Given the description of an element on the screen output the (x, y) to click on. 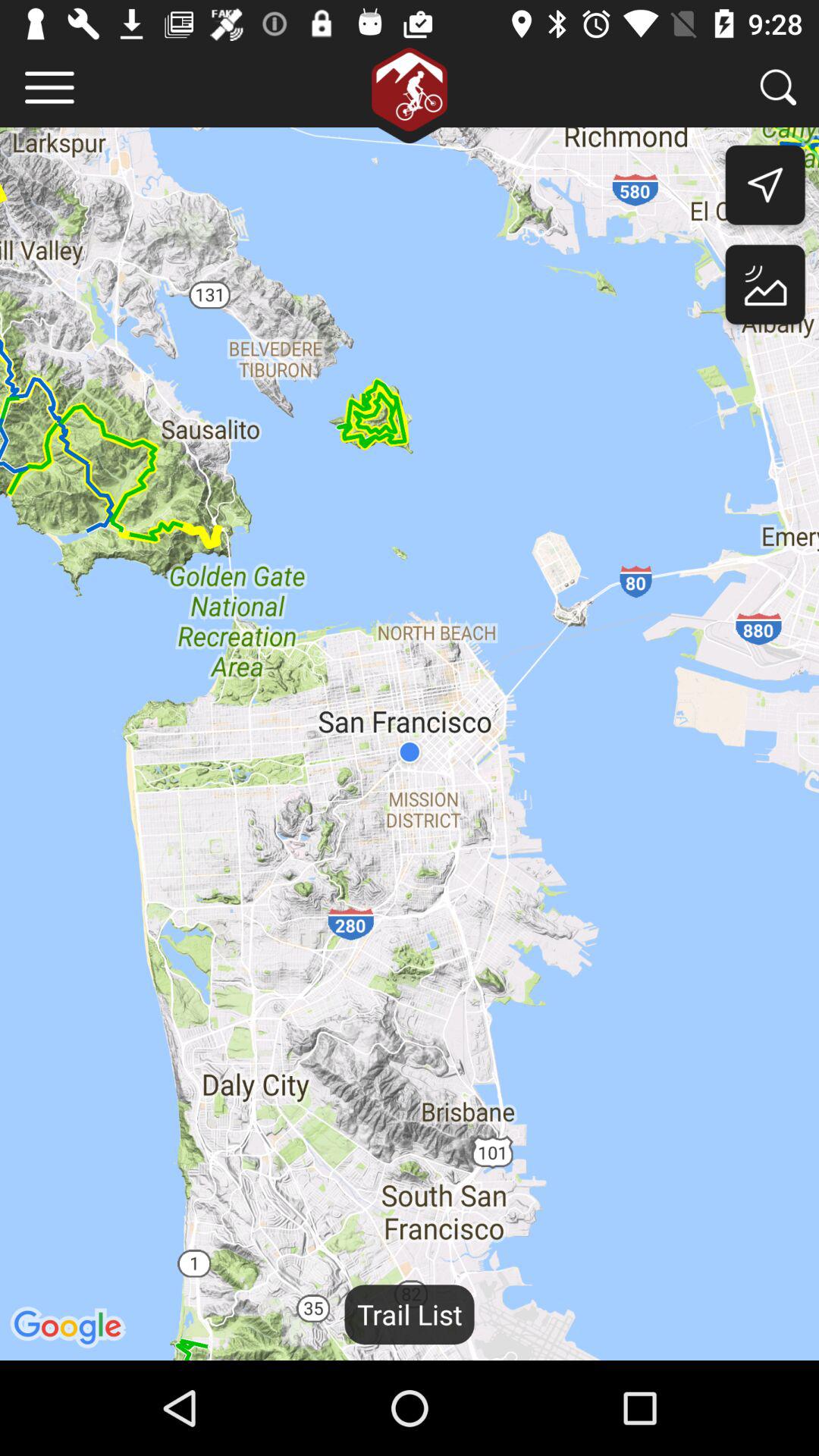
click trail list item (409, 1314)
